Given the description of an element on the screen output the (x, y) to click on. 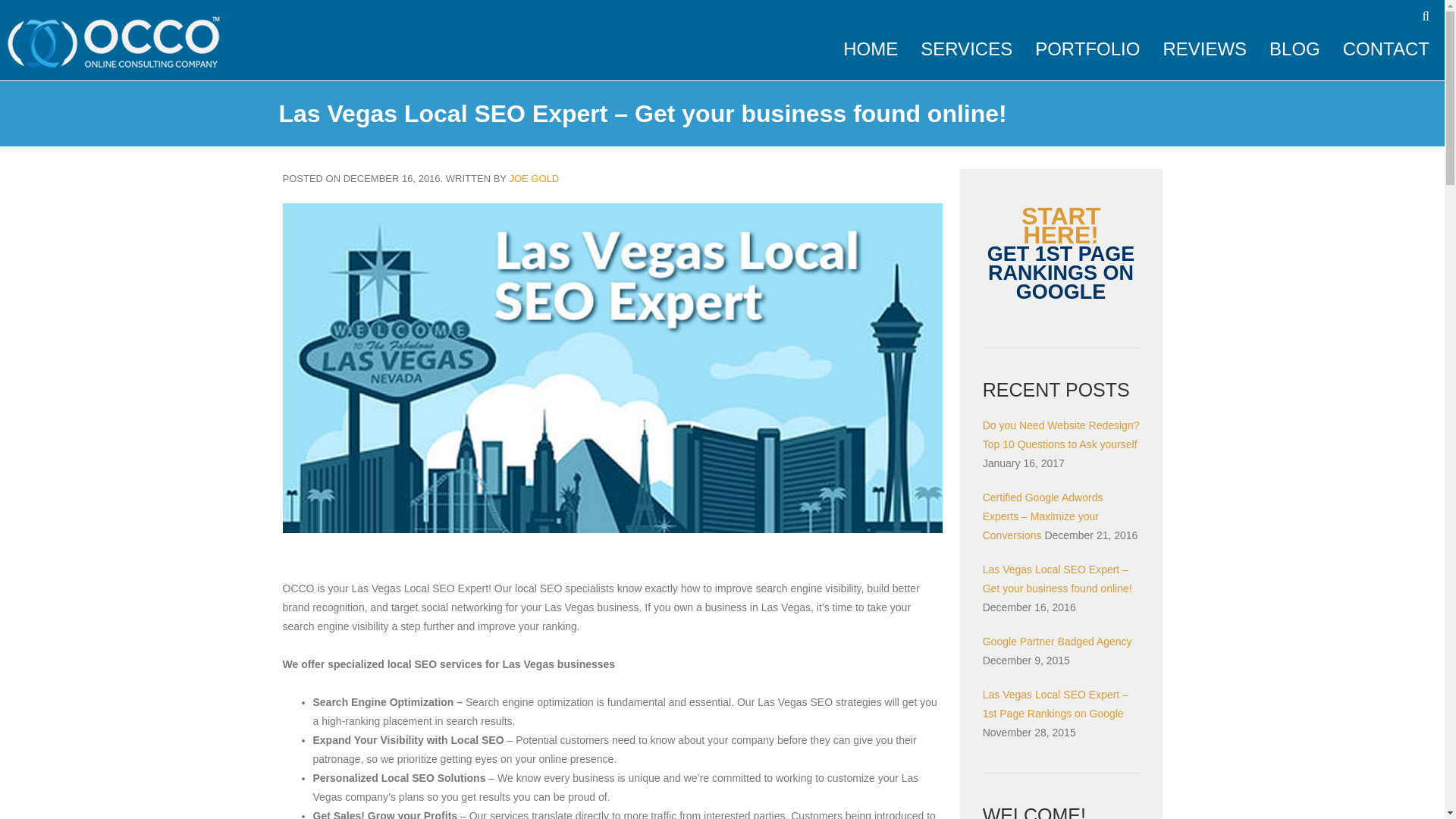
SERVICES (965, 48)
Google Partner Badged Agency (1057, 641)
CONTACT (1385, 48)
REVIEWS (1203, 48)
HOME (870, 48)
Posts by Joe Gold (533, 178)
JOE GOLD (533, 178)
BLOG (1294, 48)
PORTFOLIO (1087, 48)
